Given the description of an element on the screen output the (x, y) to click on. 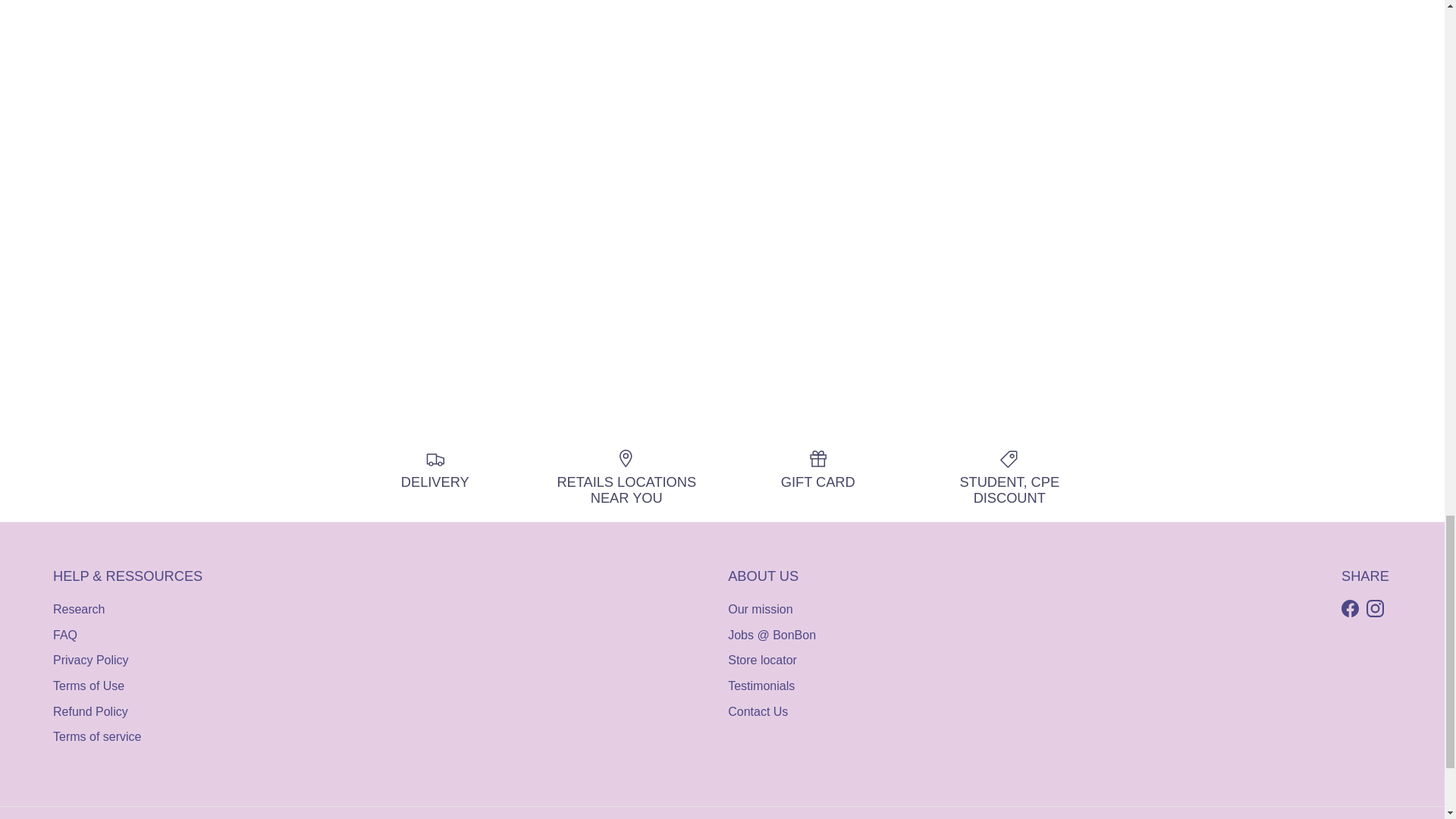
Bonbon Collections on Facebook (1349, 608)
Bonbon Collections on Instagram (1375, 608)
